Given the description of an element on the screen output the (x, y) to click on. 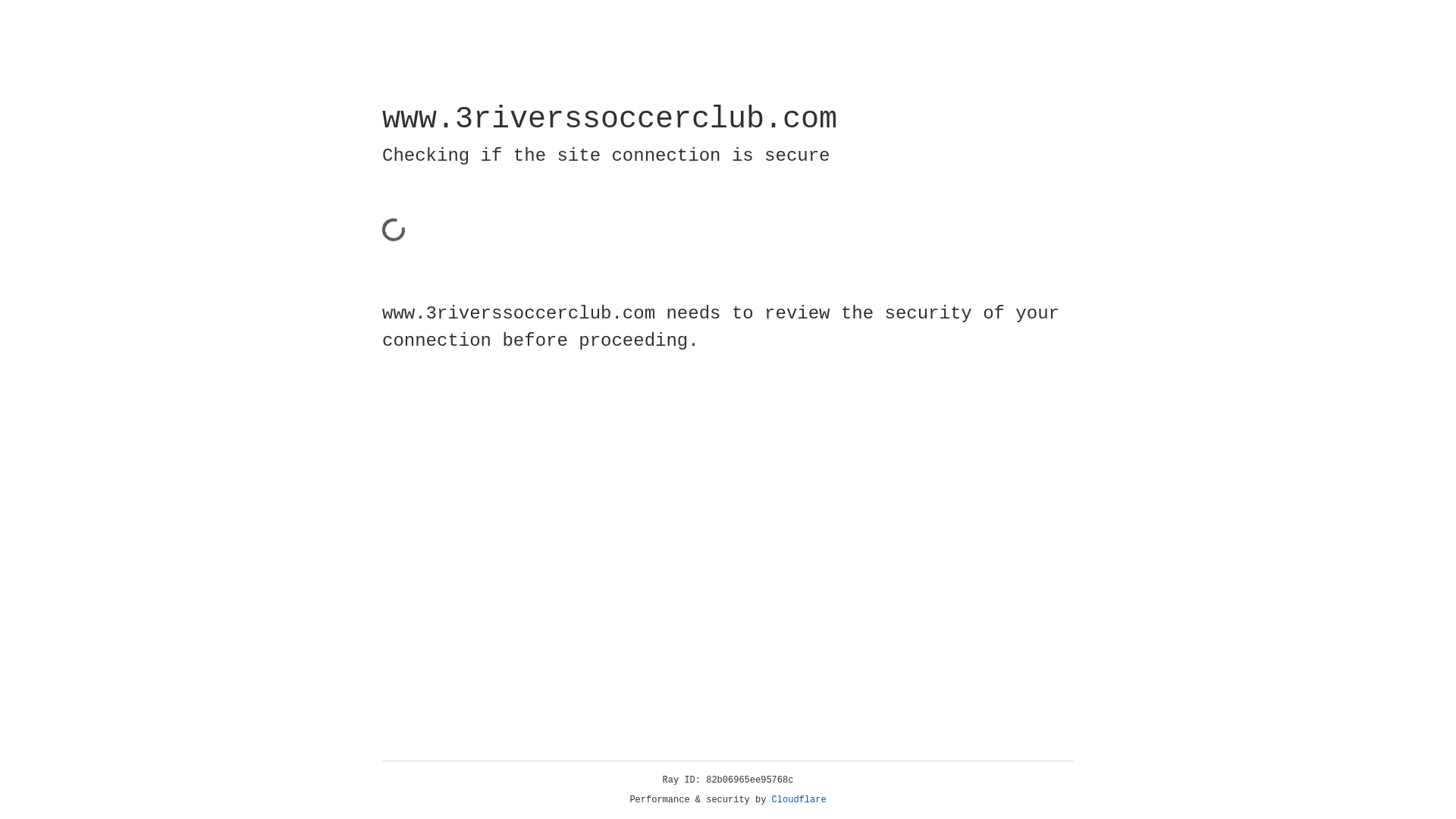
Cloudflare Element type: text (798, 799)
